Given the description of an element on the screen output the (x, y) to click on. 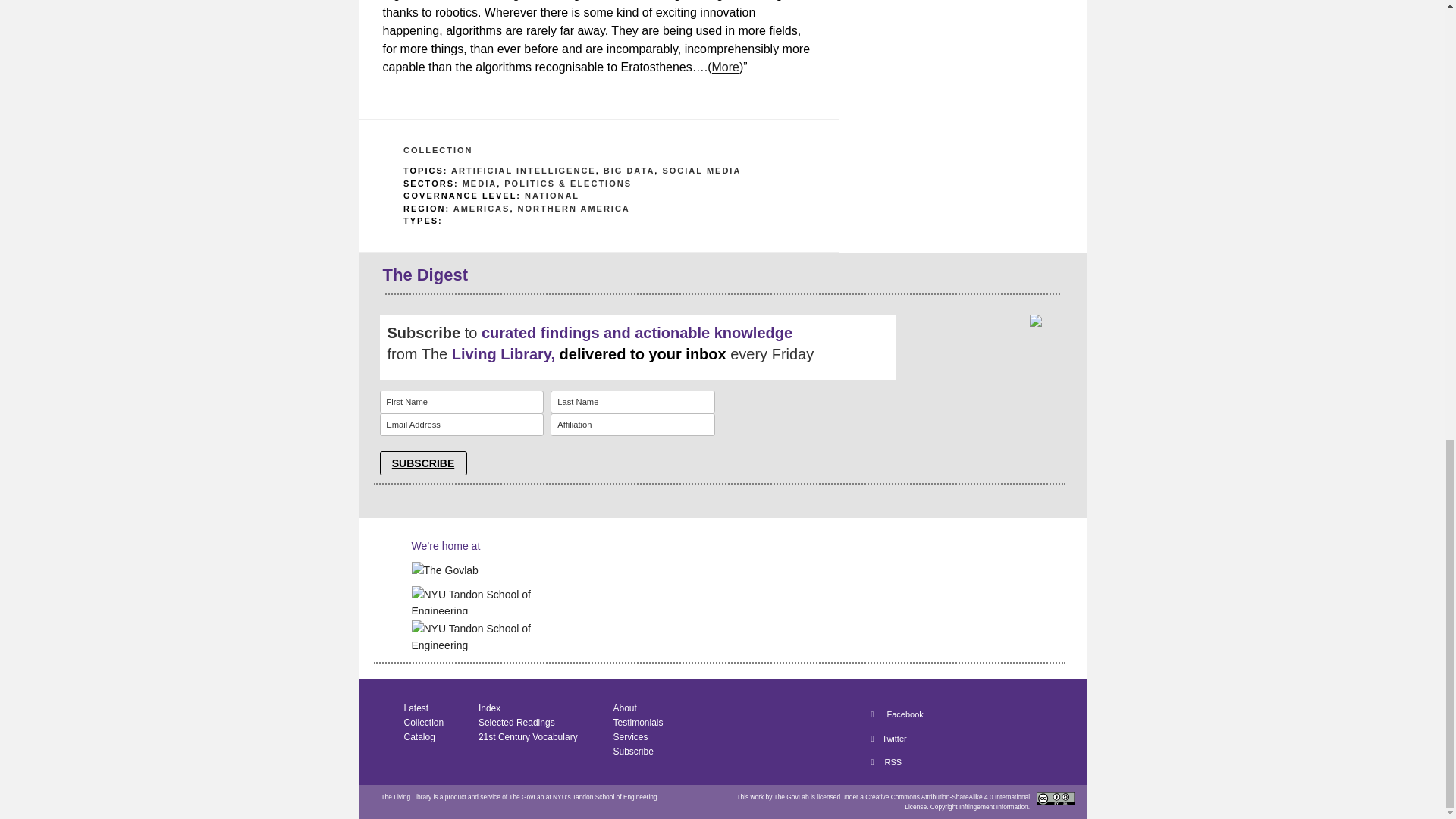
NORTHERN AMERICA (572, 207)
COLLECTION (438, 149)
SOCIAL MEDIA (701, 170)
AMERICAS (481, 207)
MEDIA (479, 183)
BIG DATA (629, 170)
NATIONAL (551, 194)
SUBSCRIBE (421, 463)
SUBSCRIBE (421, 463)
ARTIFICIAL INTELLIGENCE (523, 170)
